Given the description of an element on the screen output the (x, y) to click on. 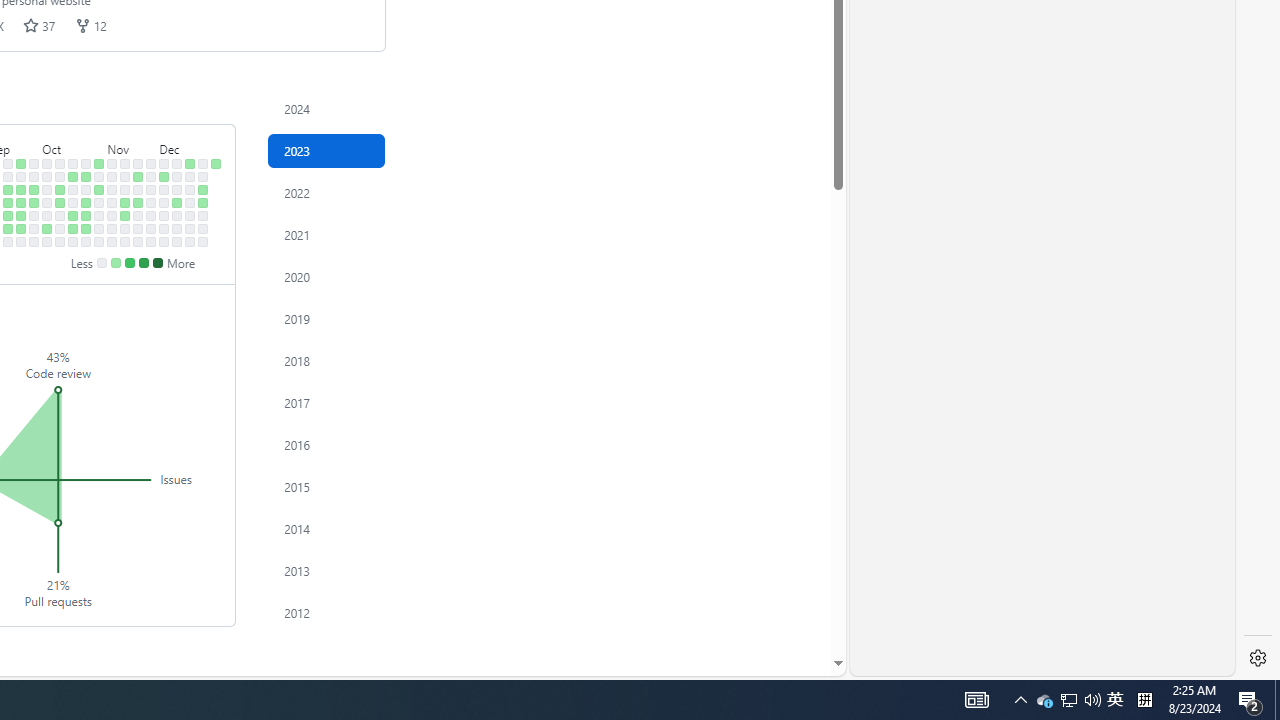
forks 12 (90, 25)
No contributions on November 4th. (98, 241)
No contributions on December 22nd. (190, 228)
No contributions on November 11th. (112, 241)
No contributions on December 5th. (164, 189)
No contributions on December 18th. (190, 176)
No contributions on December 21st. (190, 215)
No contributions on December 14th. (177, 215)
2022 (326, 192)
2 contributions on October 27th. (86, 228)
2021 (326, 233)
1 contribution on October 16th. (73, 176)
No contributions on December 10th. (177, 163)
No contributions on September 25th. (34, 176)
1 contribution on December 4th. (164, 176)
